Given the description of an element on the screen output the (x, y) to click on. 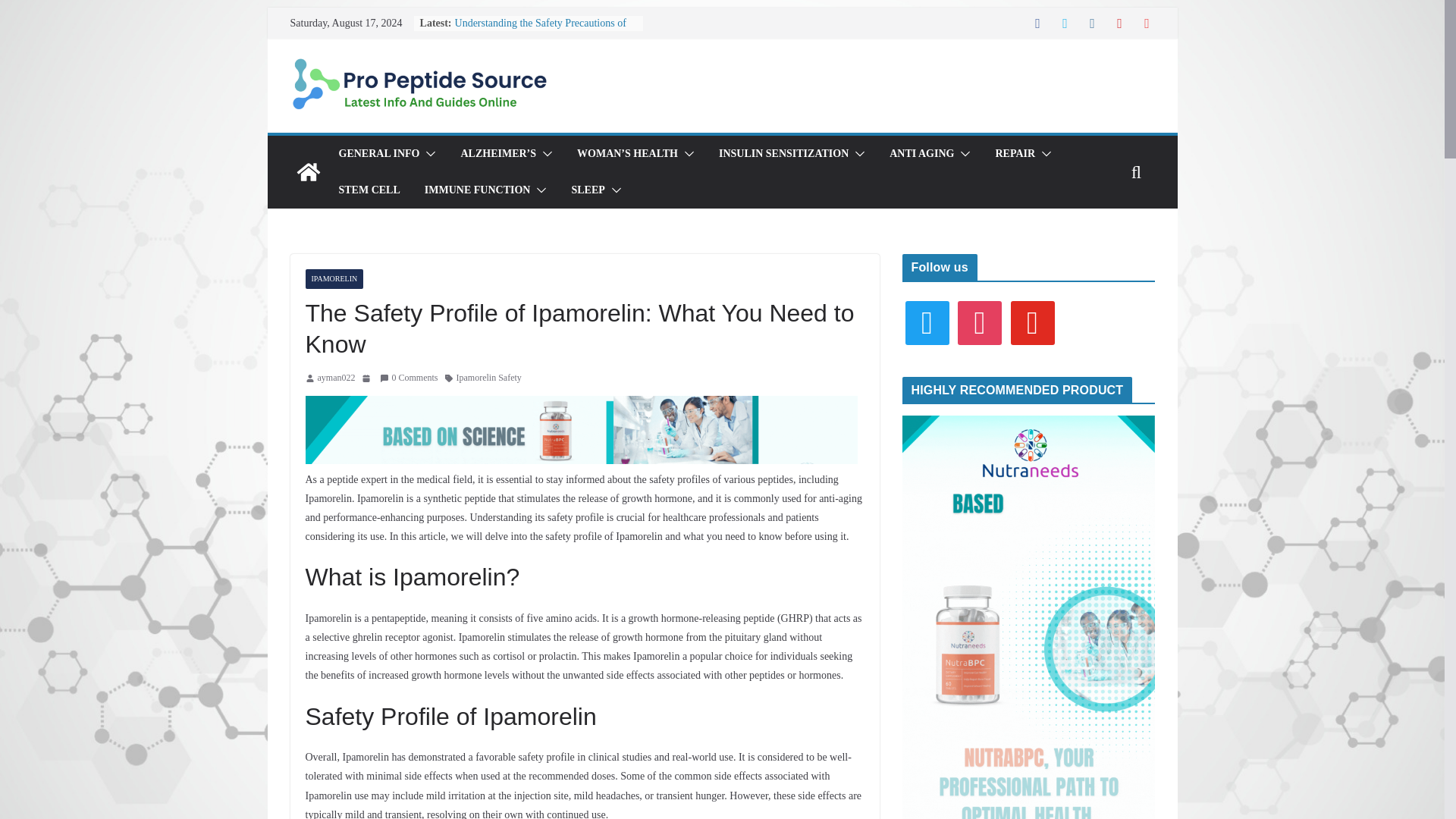
IMMUNE FUNCTION (478, 189)
ayman022 (336, 378)
ANTI AGING (921, 153)
3:56 pm (366, 378)
Pro Peptide Source (307, 171)
INSULIN SENSITIZATION (783, 153)
REPAIR (1014, 153)
GENERAL INFO (378, 153)
STEM CELL (367, 189)
